Given the description of an element on the screen output the (x, y) to click on. 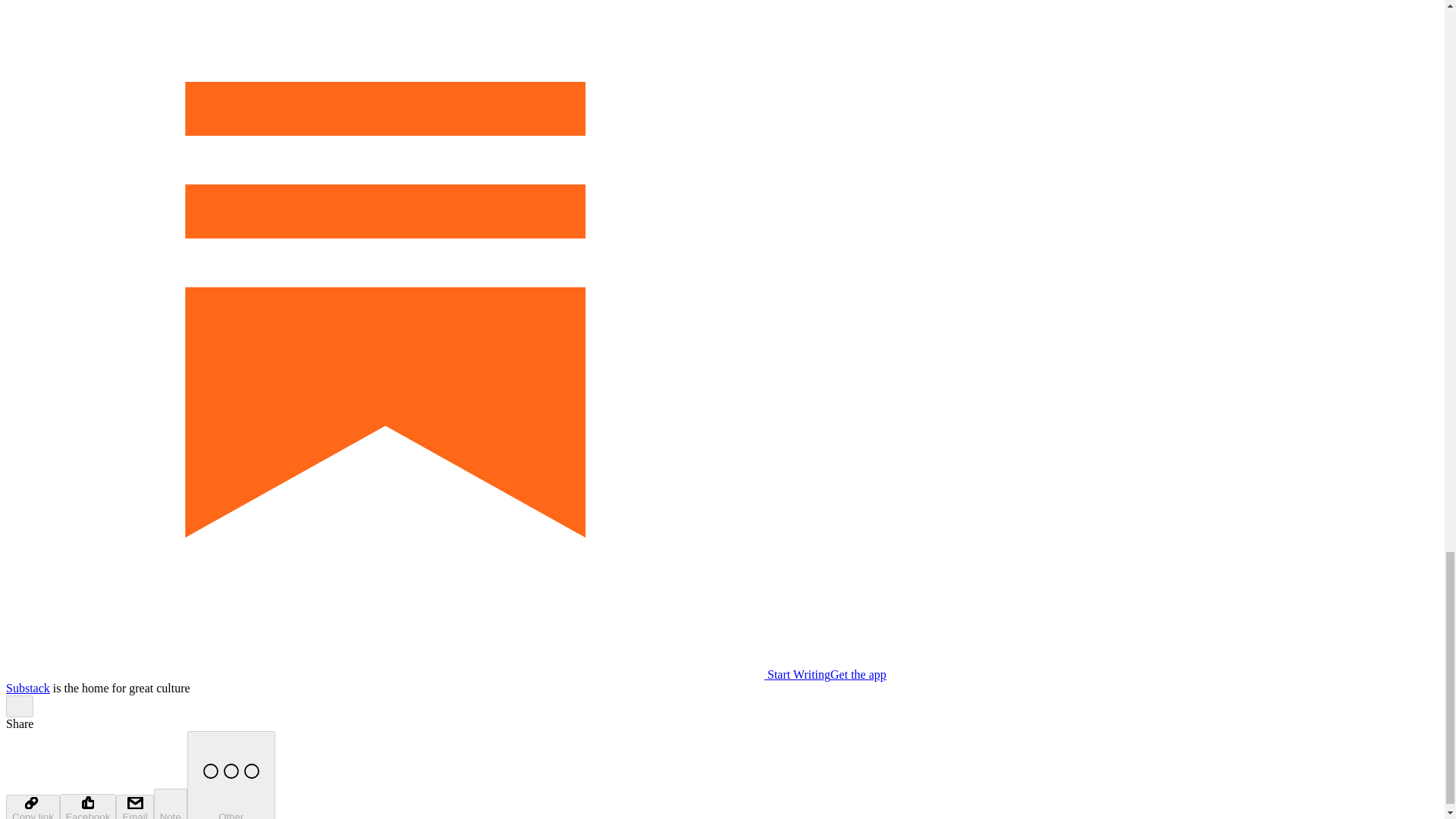
Start Writing (417, 674)
Substack (27, 687)
Get the app (857, 674)
